Given the description of an element on the screen output the (x, y) to click on. 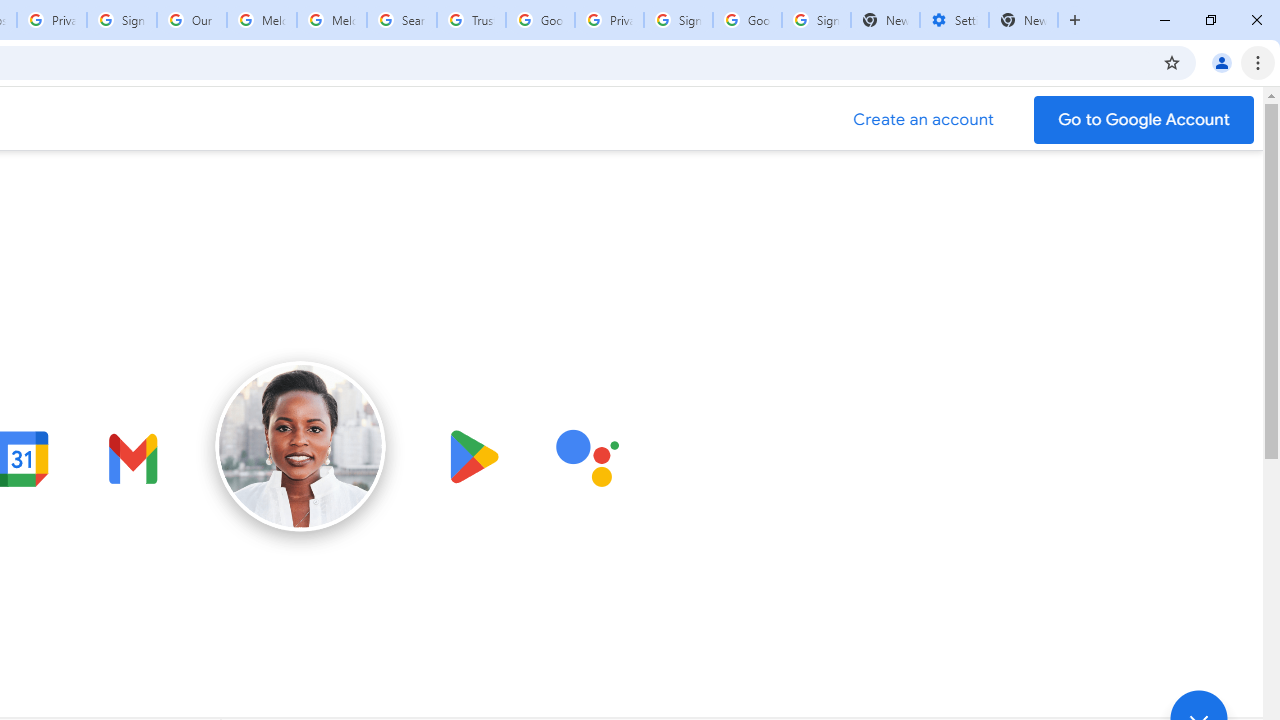
Google Ads - Sign in (539, 20)
Go to your Google Account (1144, 119)
Sign in - Google Accounts (677, 20)
